Given the description of an element on the screen output the (x, y) to click on. 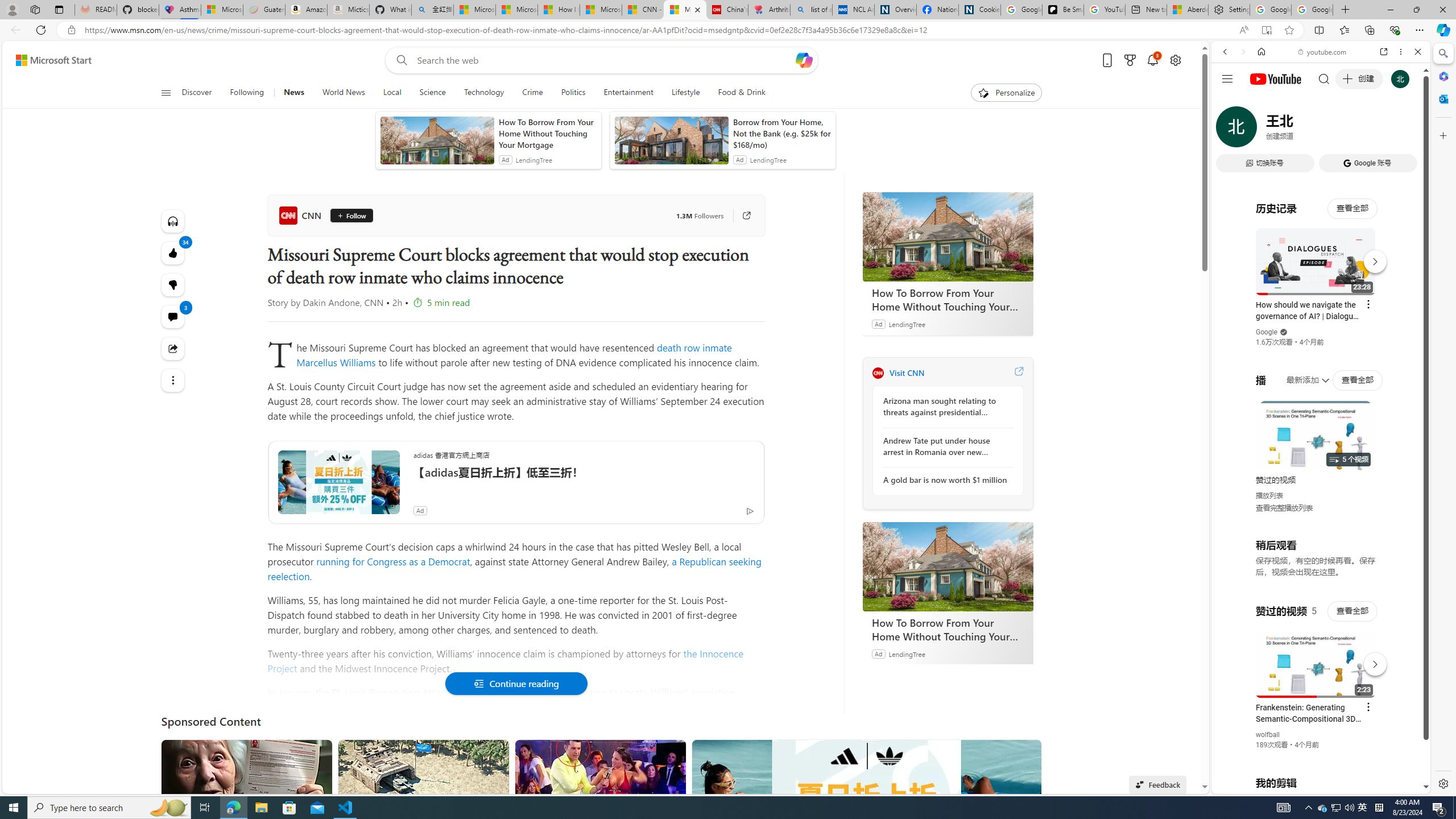
How I Got Rid of Microsoft Edge's Unnecessary Features (558, 9)
you (1315, 755)
Microsoft-Report a Concern to Bing (221, 9)
Share this story (172, 348)
Class: button-glyph (165, 92)
Ad Choice (749, 510)
Settings (1442, 783)
Settings (1229, 9)
News (293, 92)
Entertainment (627, 92)
